Given the description of an element on the screen output the (x, y) to click on. 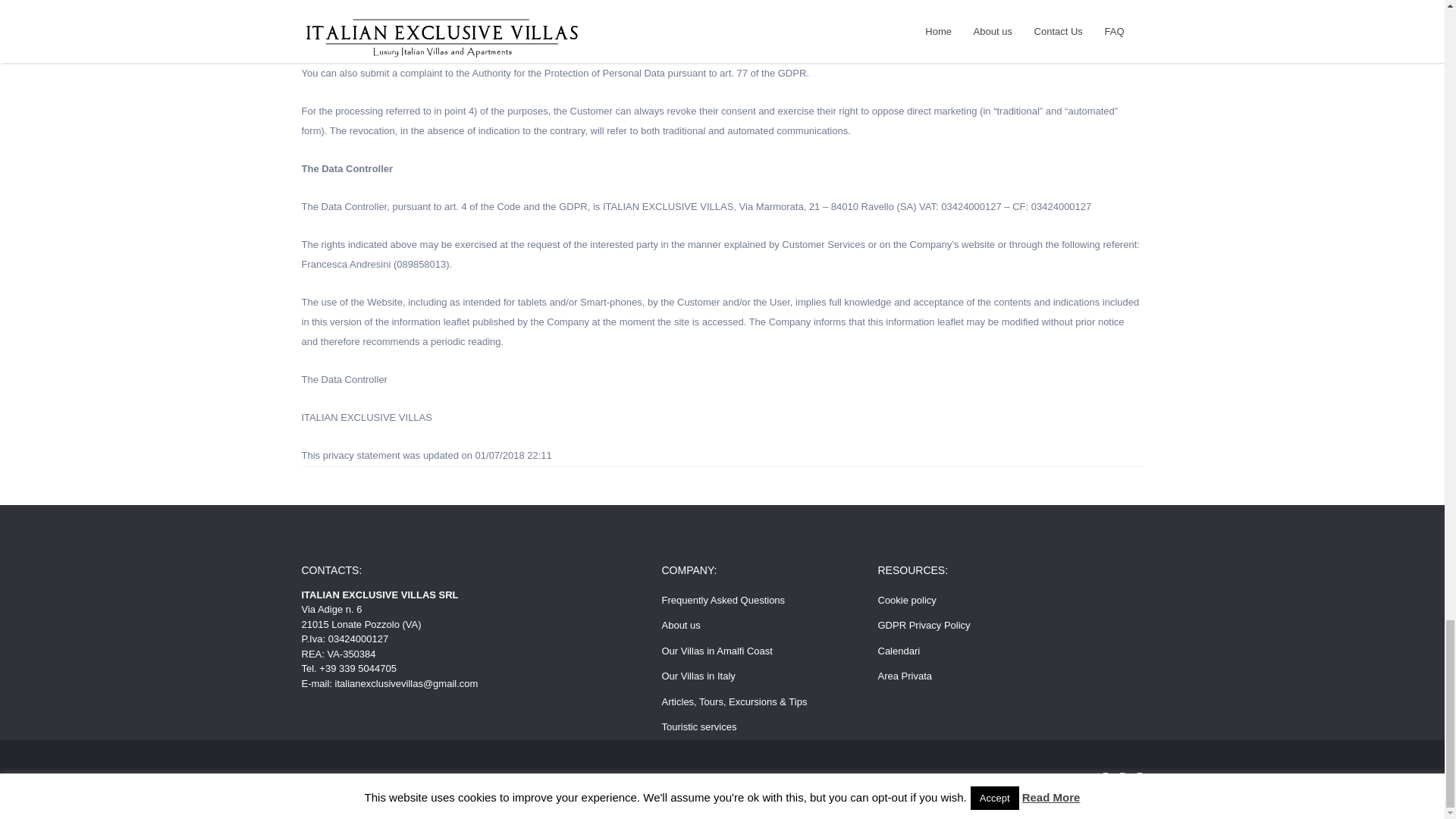
Our Villas in Italy (698, 675)
Area Privata (905, 675)
Our Villas in Amalfi Coast (716, 650)
Touristic services (698, 726)
About us (680, 624)
Studio gtomasselli.it (658, 778)
Cookie policy (906, 600)
Frequently Asked Questions (722, 600)
GDPR Privacy Policy (924, 624)
Calendari (898, 650)
